Given the description of an element on the screen output the (x, y) to click on. 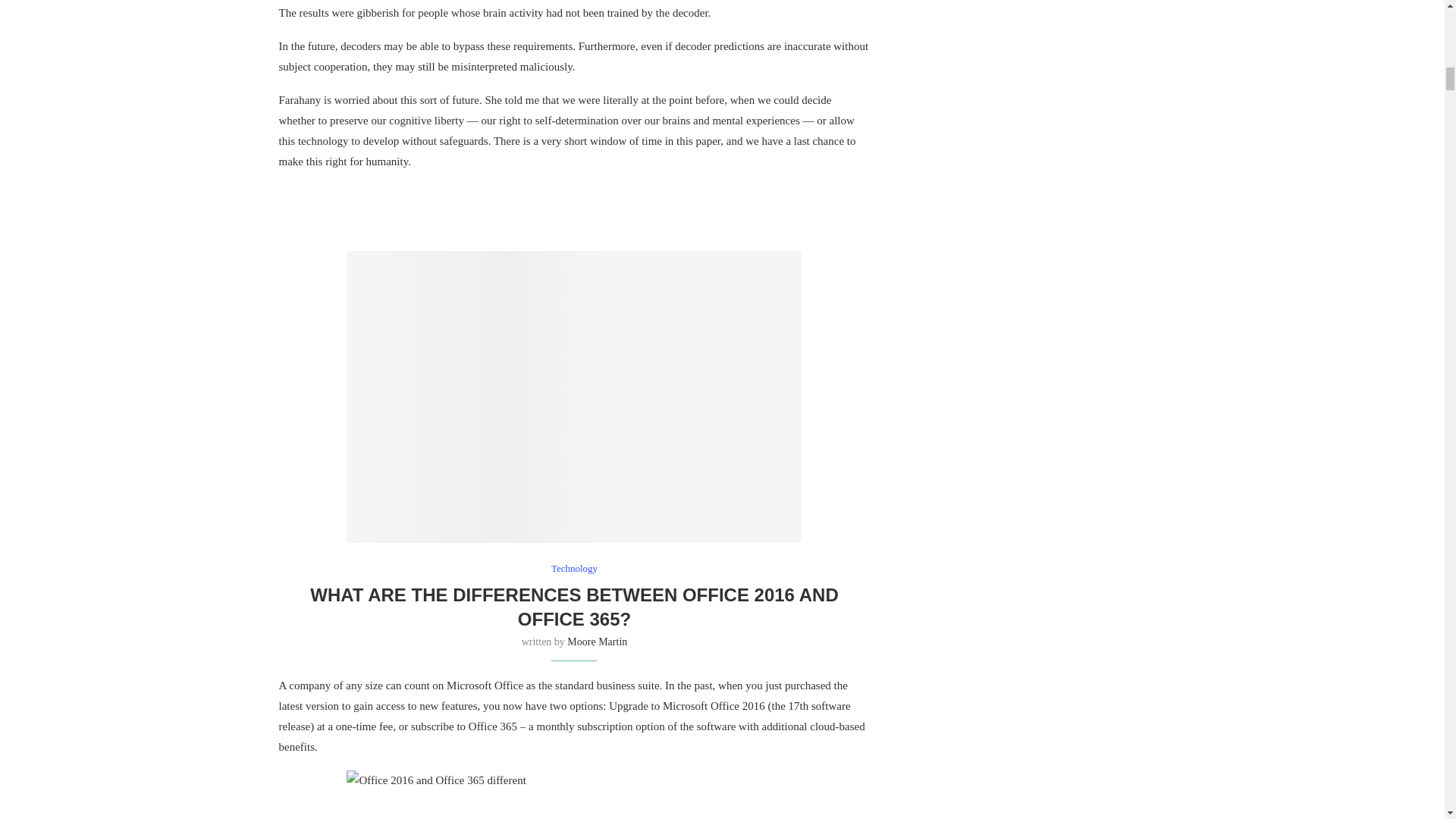
WHAT ARE THE DIFFERENCES BETWEEN OFFICE 2016 AND OFFICE 365? (574, 606)
Moore Martin (597, 641)
Office 2016 and Office 365 different (574, 396)
Technology (573, 568)
